Given the description of an element on the screen output the (x, y) to click on. 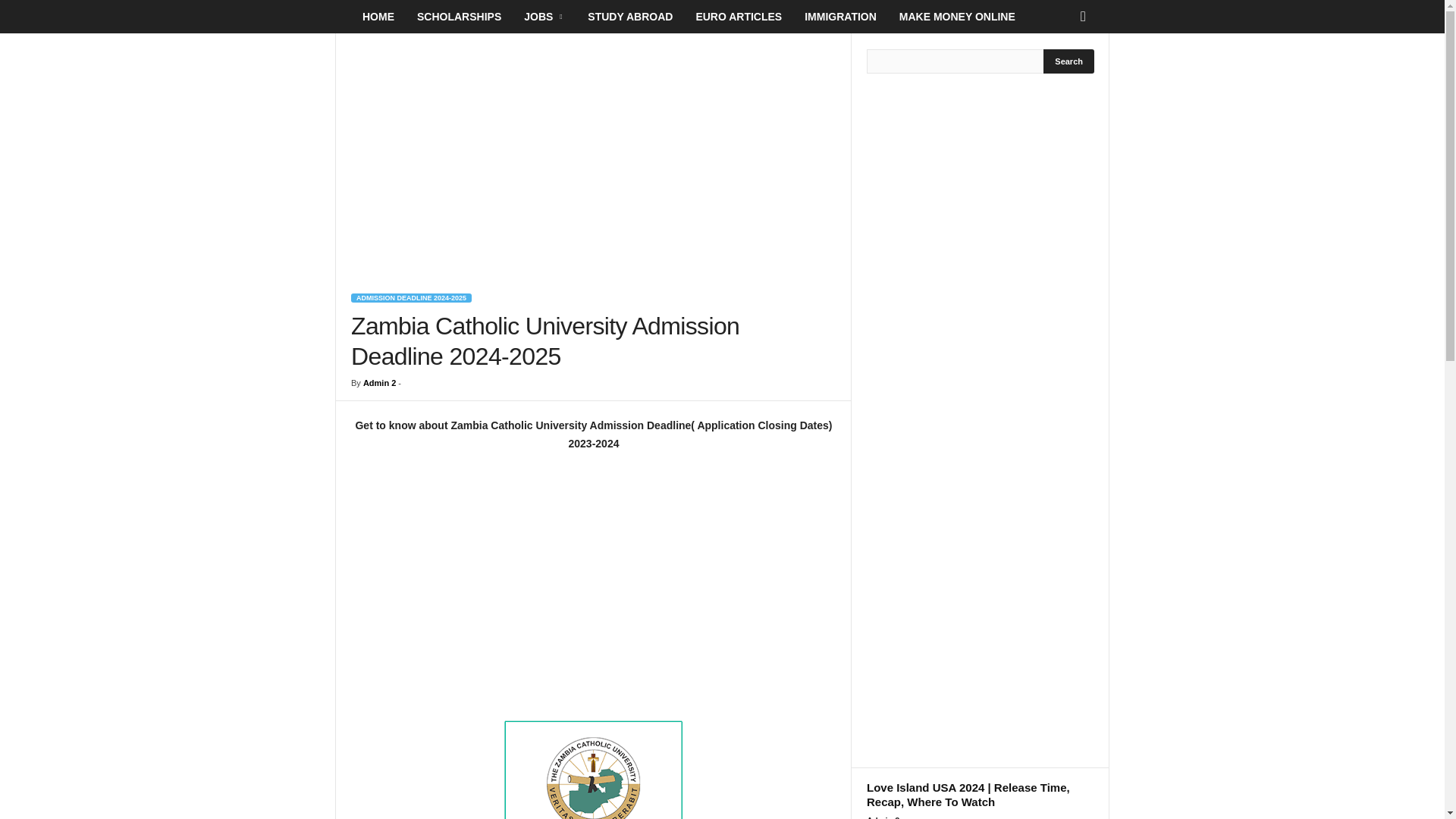
SCHOLARSHIPS (459, 16)
ADMISSION DEADLINE 2024-2025 (410, 297)
MAKE MONEY ONLINE (957, 16)
STUDY ABROAD (630, 16)
Advertisement (593, 152)
Search (1068, 61)
Advertisement (1003, 594)
JOBS (544, 16)
Advertisement (593, 584)
Search (1068, 61)
